Given the description of an element on the screen output the (x, y) to click on. 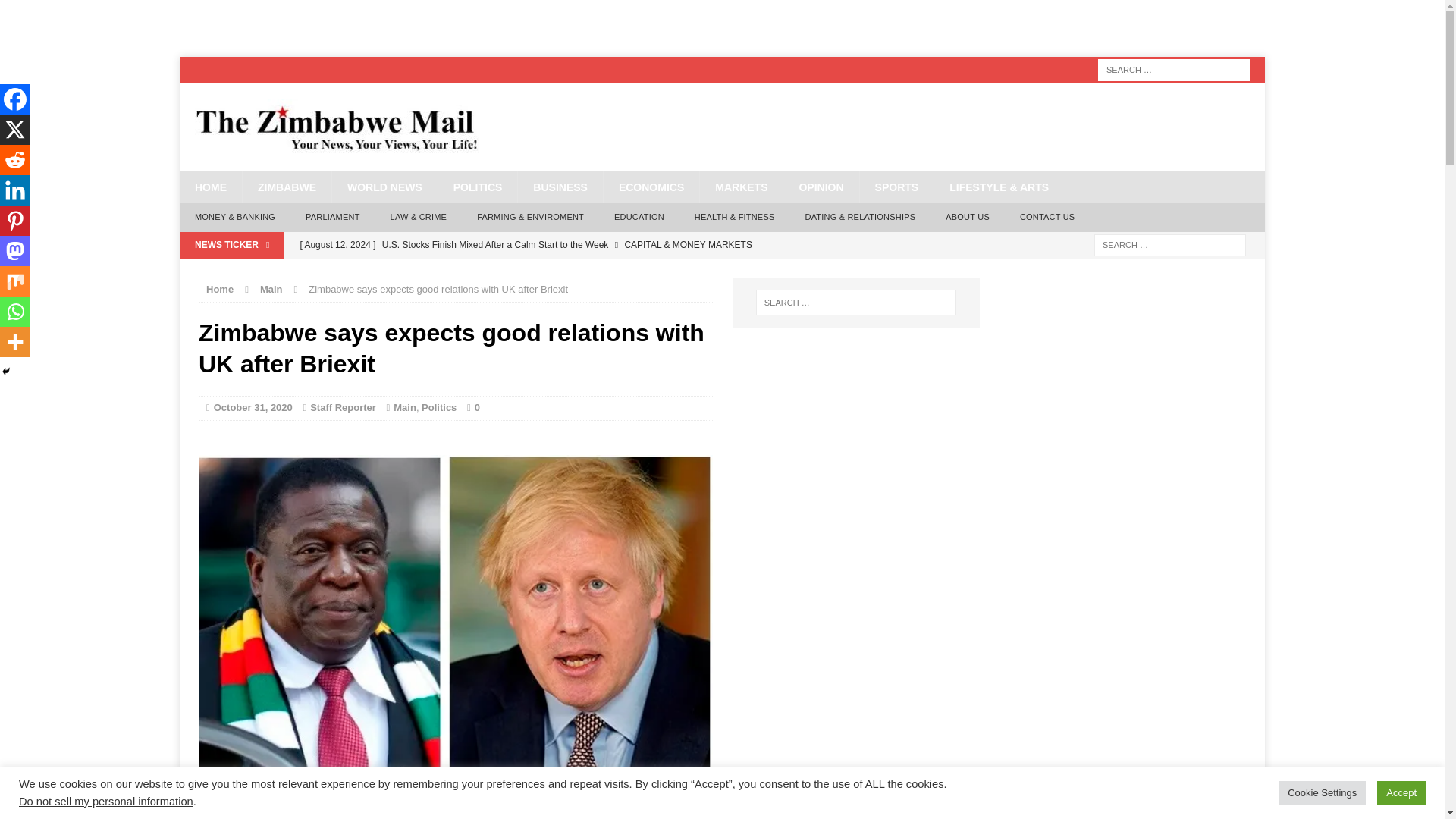
BUSINESS (559, 187)
MARKETS (740, 187)
EDUCATION (638, 217)
Search (37, 11)
ABOUT US (967, 217)
CONTACT US (1047, 217)
POLITICS (478, 187)
HOME (210, 187)
ECONOMICS (650, 187)
